Given the description of an element on the screen output the (x, y) to click on. 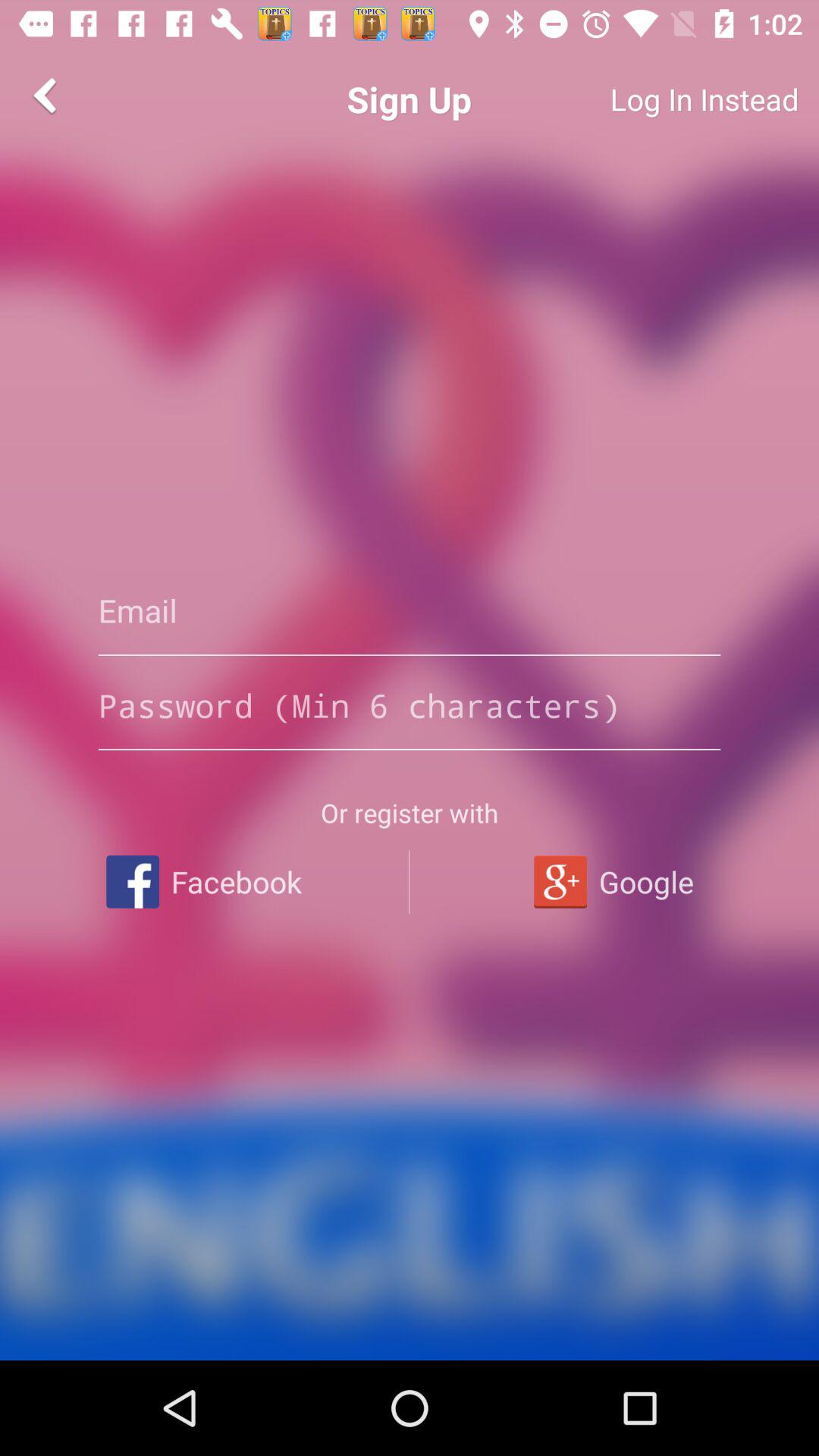
enter email address (409, 610)
